Given the description of an element on the screen output the (x, y) to click on. 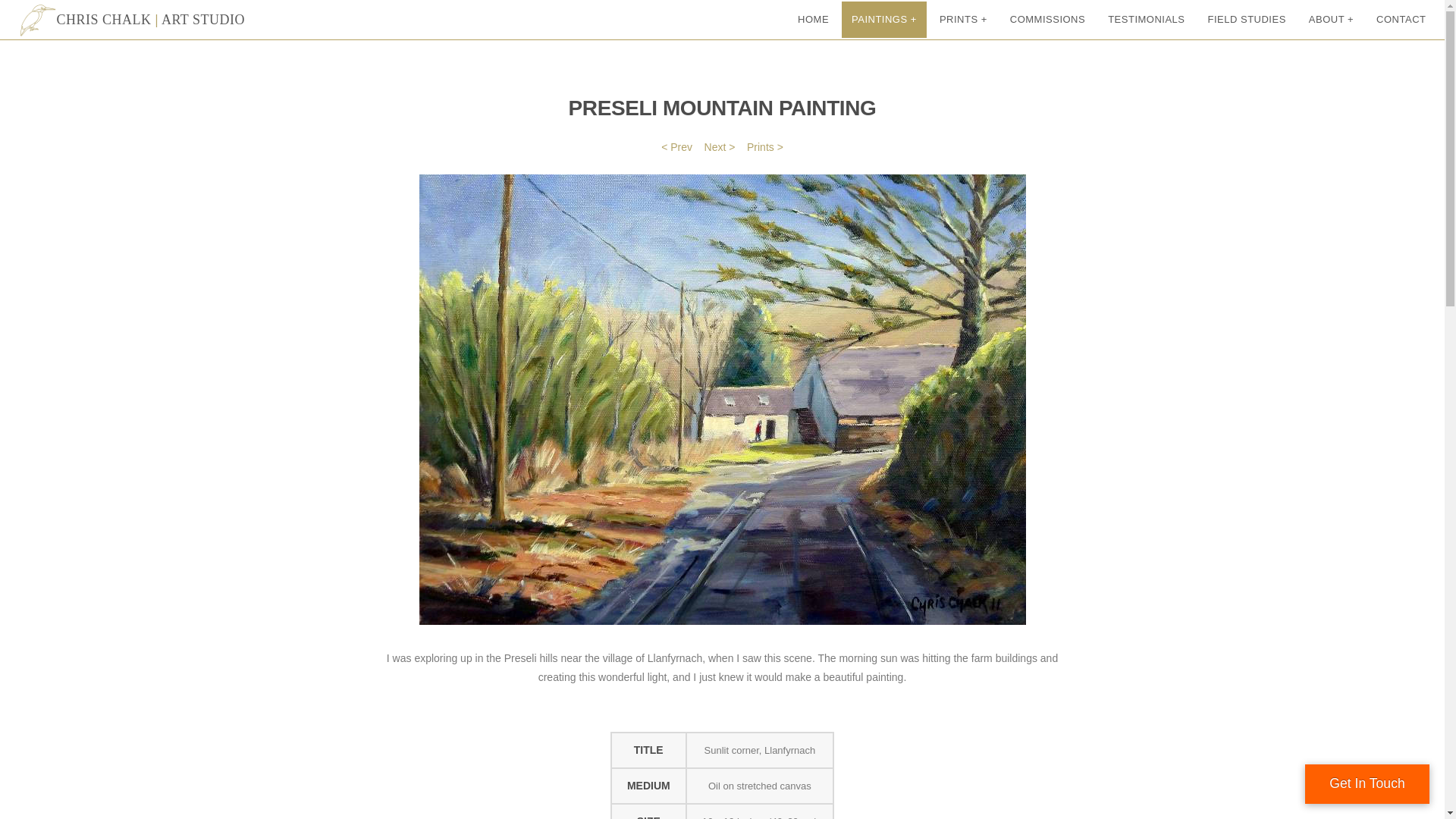
COMMISSIONS (1047, 19)
TESTIMONIALS (1145, 19)
PRINTS (963, 19)
HOME (812, 19)
FIELD STUDIES (1246, 19)
CONTACT (1401, 19)
ABOUT (1330, 19)
PAINTINGS (883, 19)
